Given the description of an element on the screen output the (x, y) to click on. 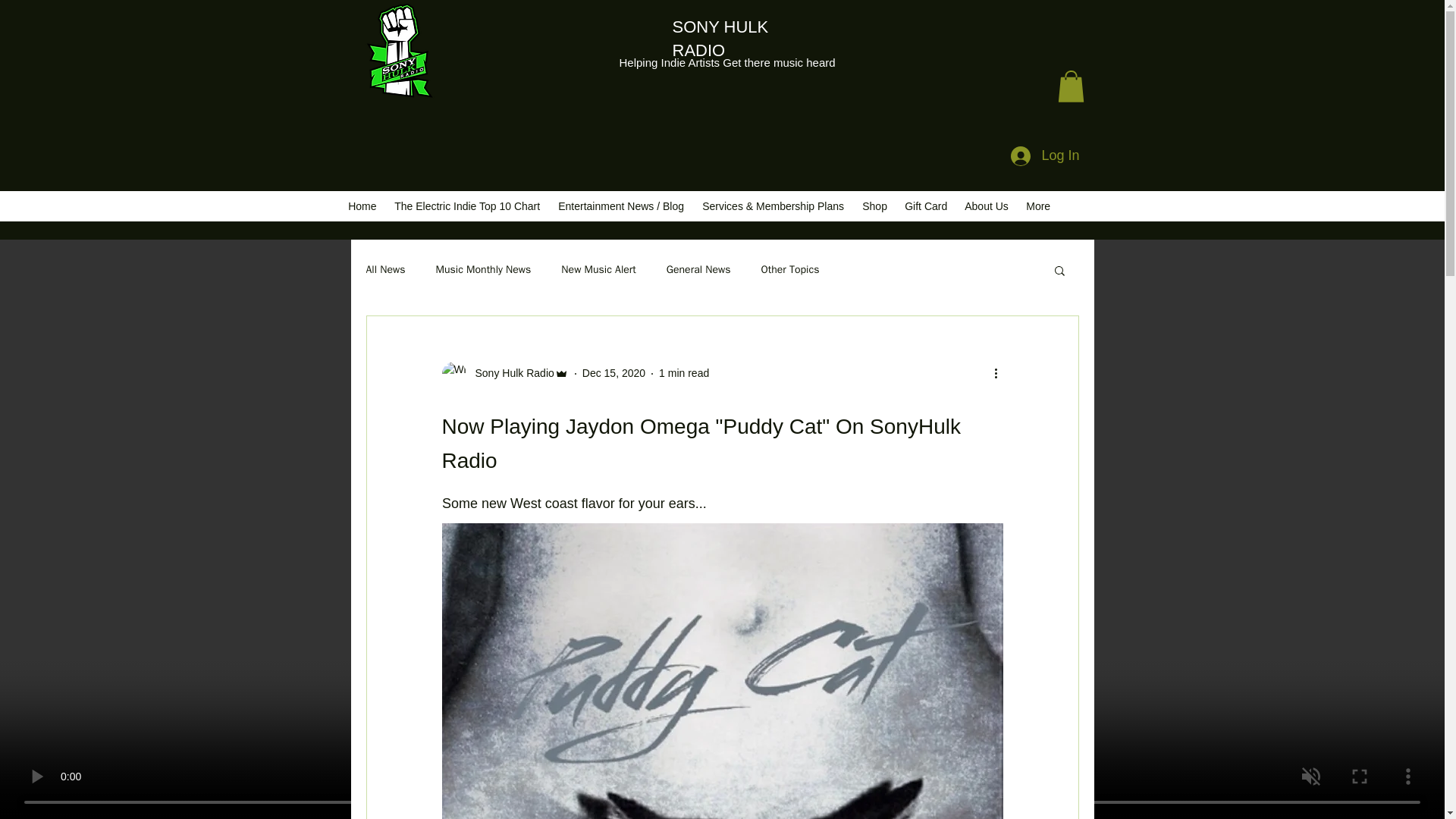
Log In (1044, 155)
Other Topics (790, 269)
New Music Alert (597, 269)
All News (384, 269)
Sony Hulk Radio (509, 373)
Home (363, 205)
Gift Card (926, 205)
SONY HULK RADIO (719, 38)
Shop (875, 205)
Dec 15, 2020 (613, 372)
